Given the description of an element on the screen output the (x, y) to click on. 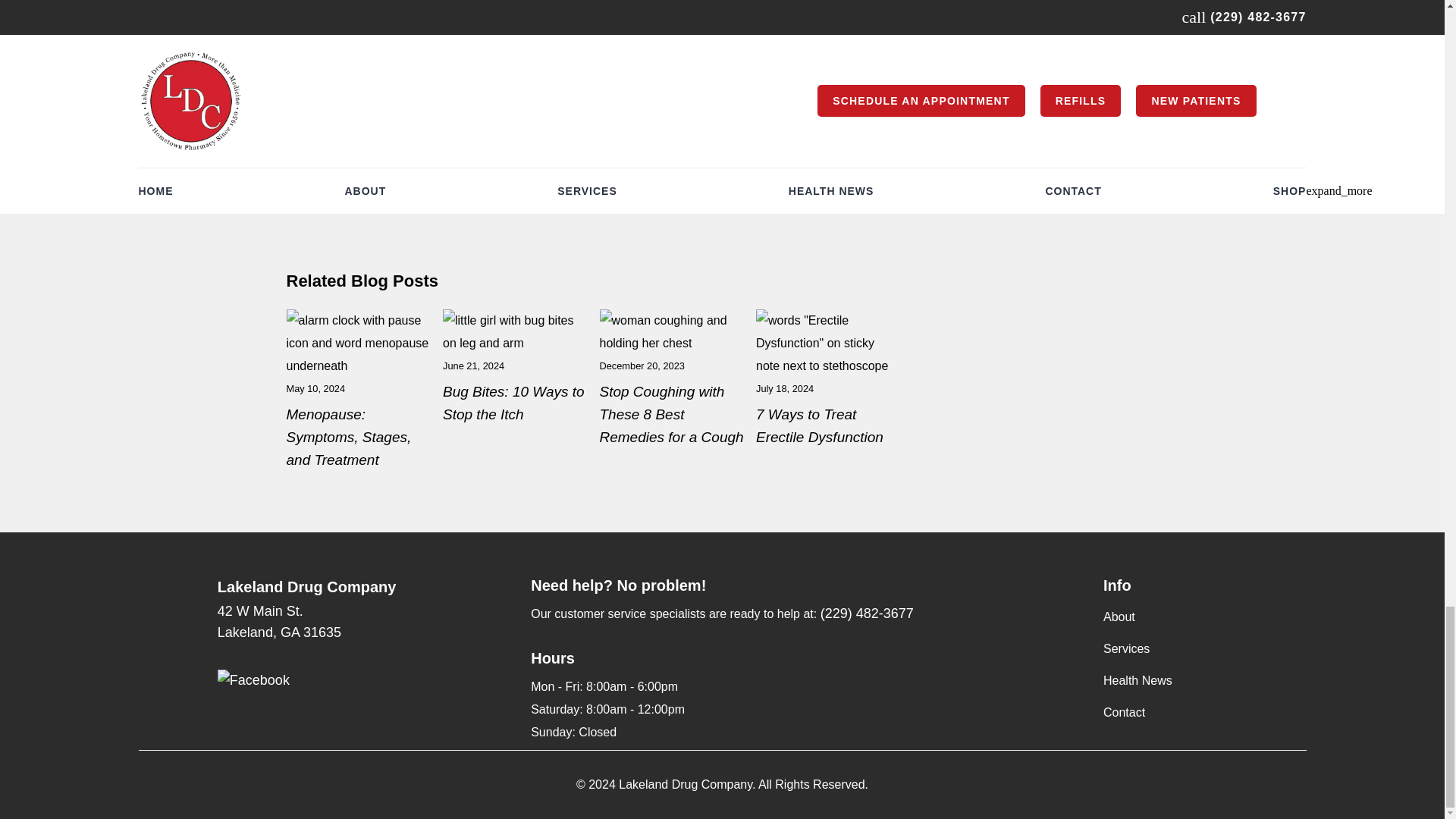
best foods for weight loss (358, 390)
